Given the description of an element on the screen output the (x, y) to click on. 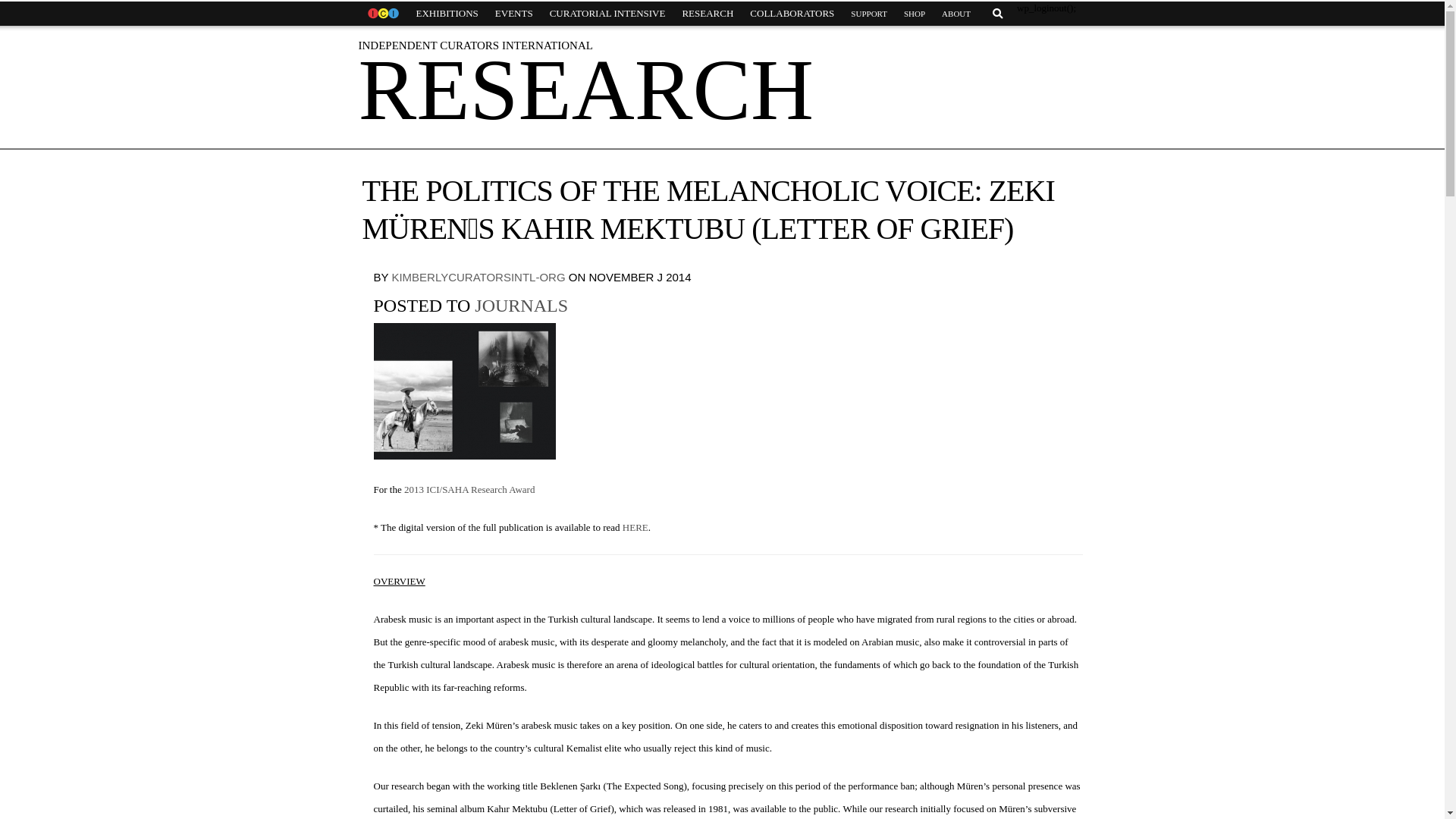
EVENTS (513, 13)
RESEARCH (706, 13)
COLLABORATORS (792, 13)
EXHIBITIONS (446, 13)
HOME (382, 13)
CURATORIAL INTENSIVE (607, 13)
